Given the description of an element on the screen output the (x, y) to click on. 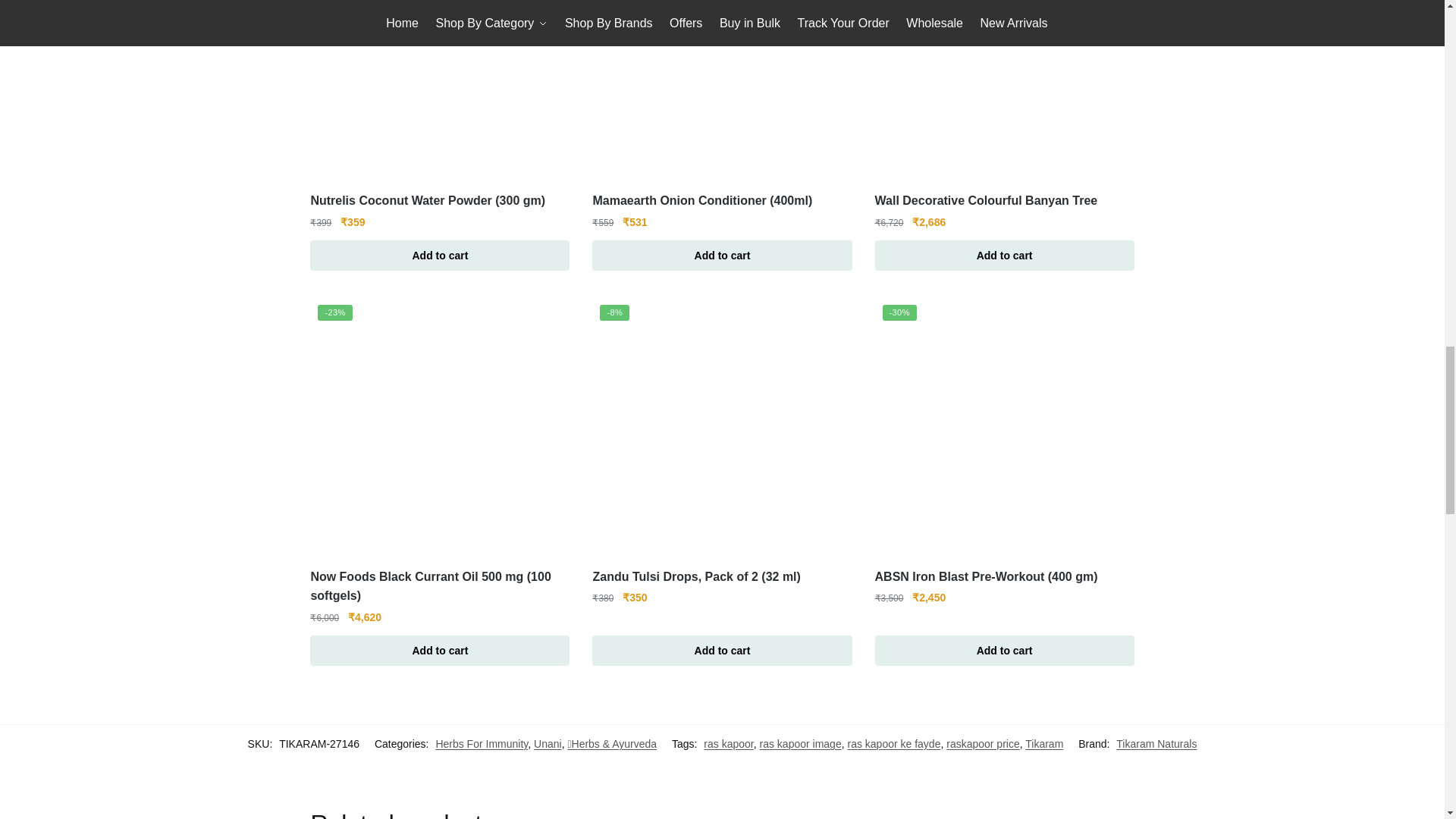
Wall Decorative Colourful Banyan Tree (1004, 90)
